Given the description of an element on the screen output the (x, y) to click on. 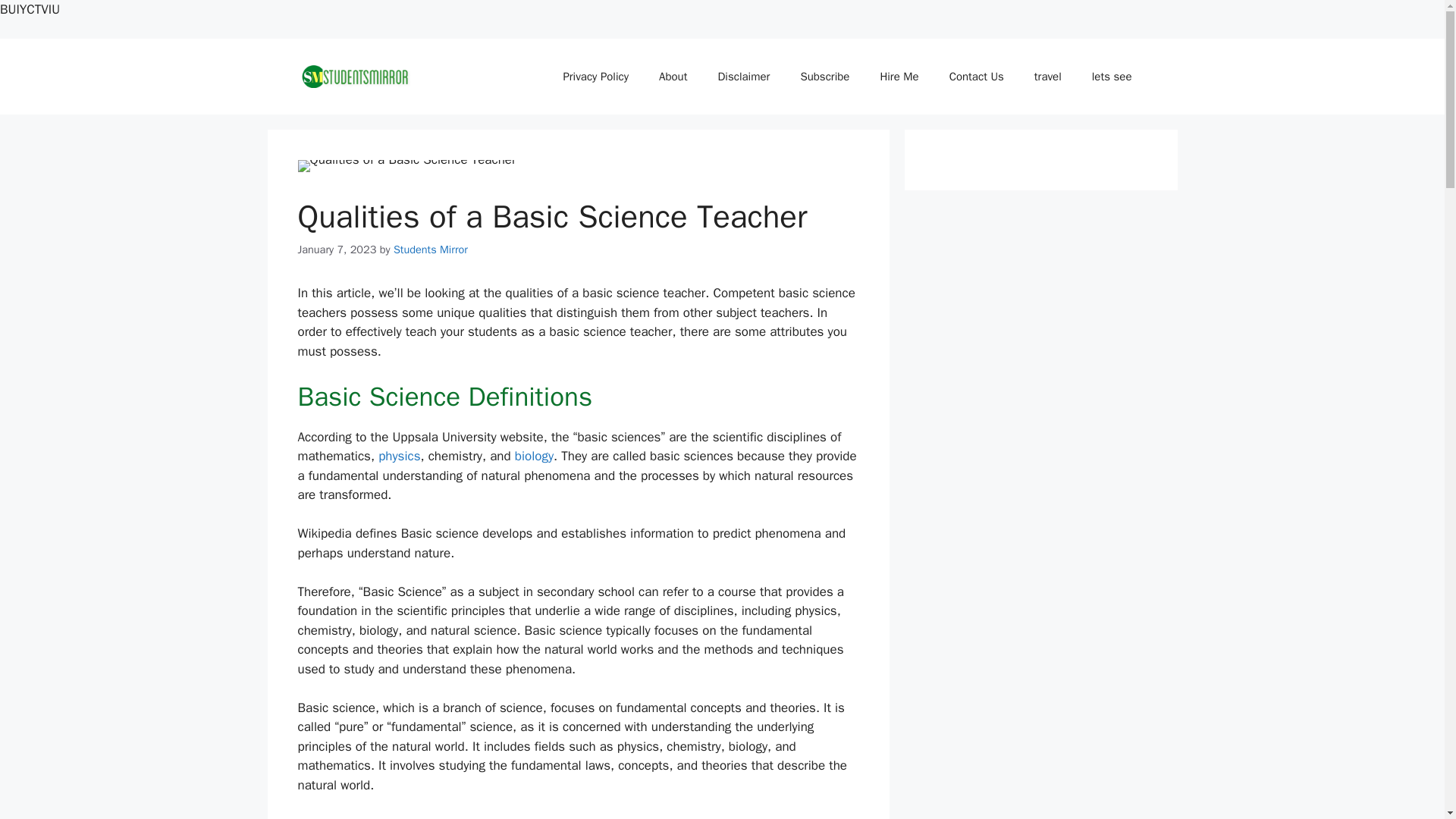
Privacy Policy (595, 76)
Hire Me (898, 76)
biology (534, 455)
physics (399, 455)
View all posts by Students Mirror (430, 249)
Students Mirror (430, 249)
travel (1048, 76)
lets see (1112, 76)
Contact Us (976, 76)
About (672, 76)
Subscribe (824, 76)
Disclaimer (742, 76)
